Given the description of an element on the screen output the (x, y) to click on. 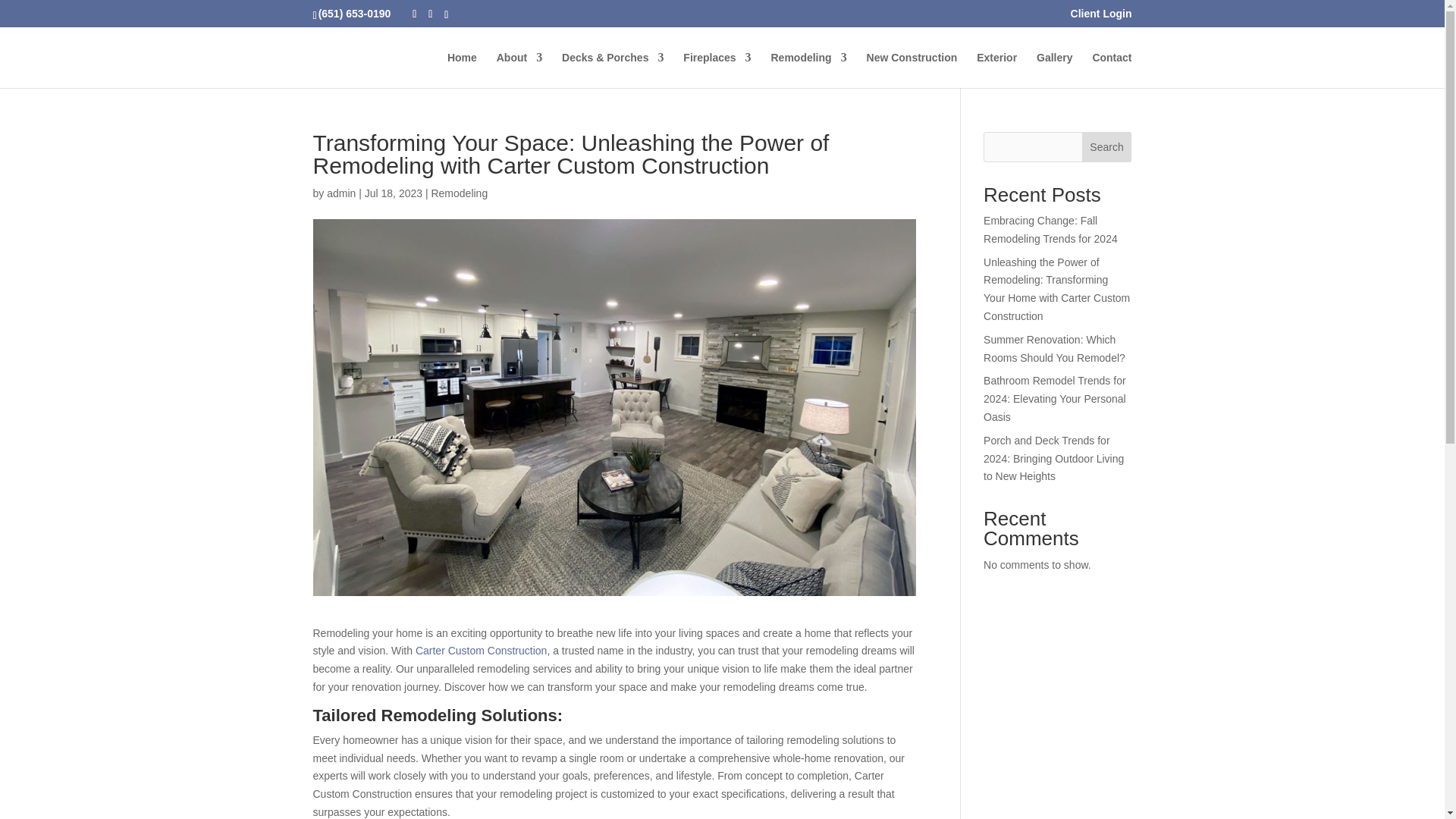
Contact (1111, 69)
Exterior (996, 69)
New Construction (912, 69)
Client Login (1101, 16)
Fireplaces (716, 69)
Remodeling (807, 69)
Gallery (1053, 69)
About (518, 69)
Posts by admin (340, 193)
